Given the description of an element on the screen output the (x, y) to click on. 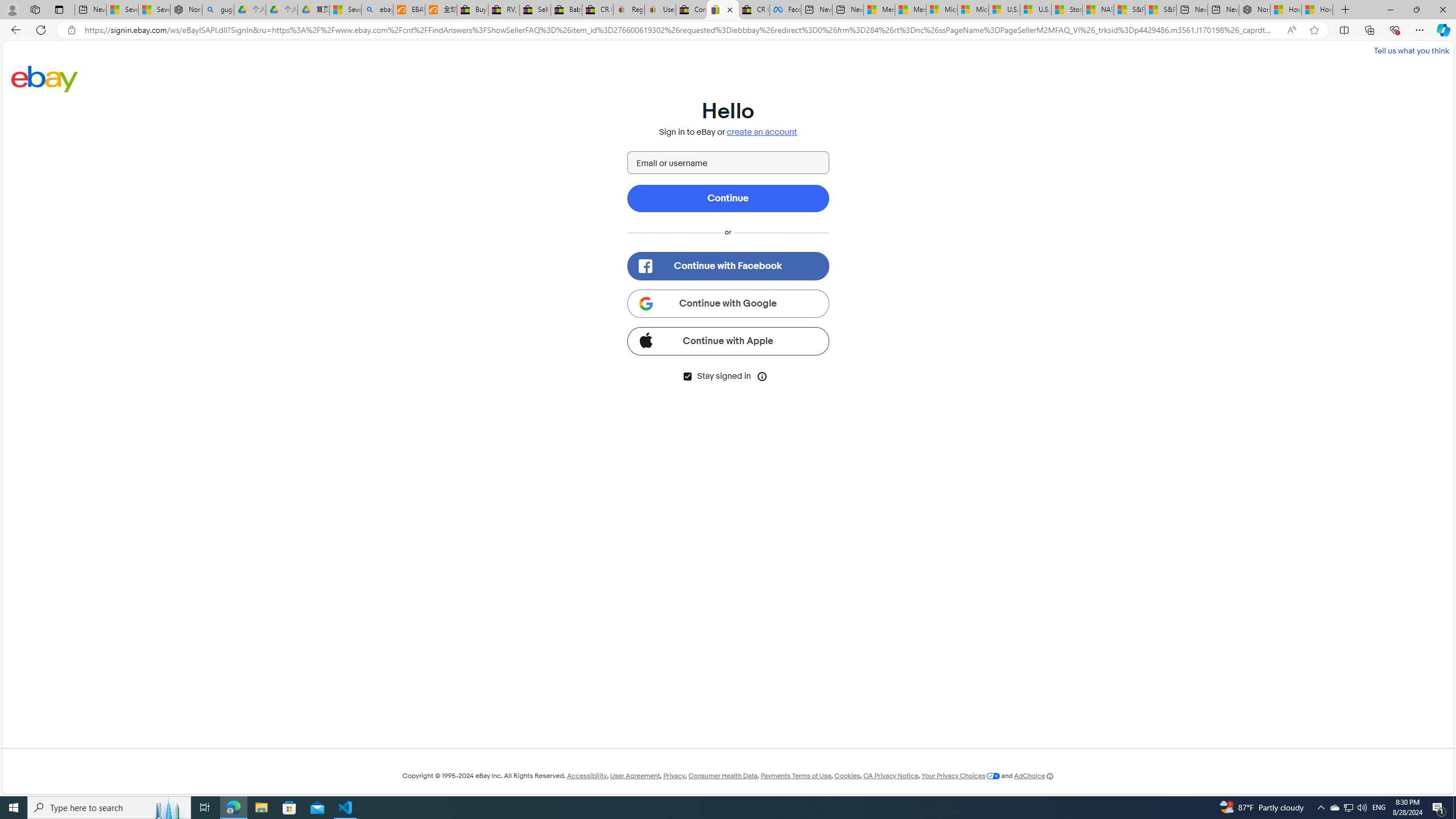
CA Privacy Notice (890, 775)
Continue (727, 198)
Sell worldwide with eBay (535, 9)
Payments Terms of Use (795, 775)
User Privacy Notice | eBay (660, 9)
